Given the description of an element on the screen output the (x, y) to click on. 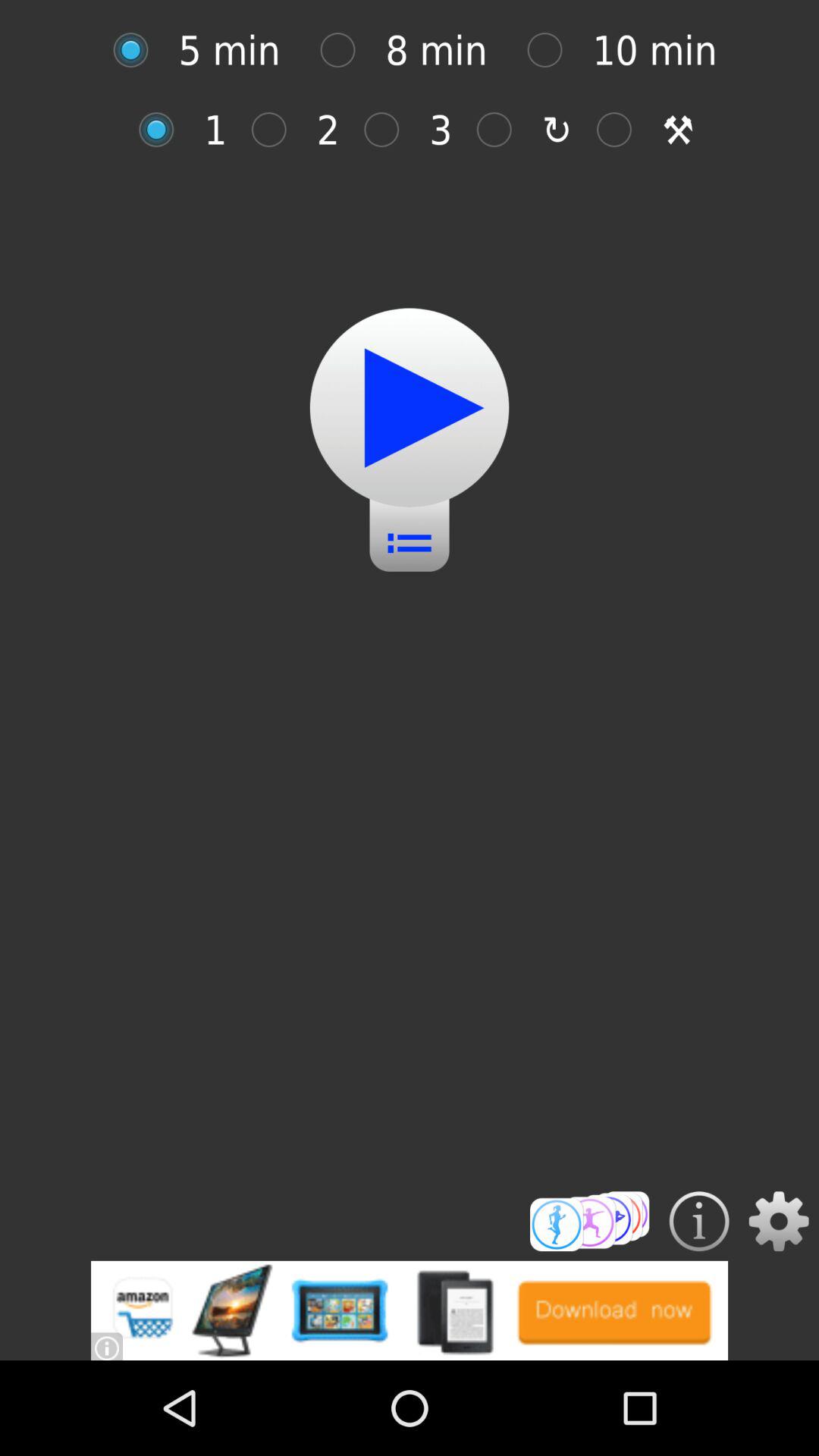
toggle tools (622, 129)
